Given the description of an element on the screen output the (x, y) to click on. 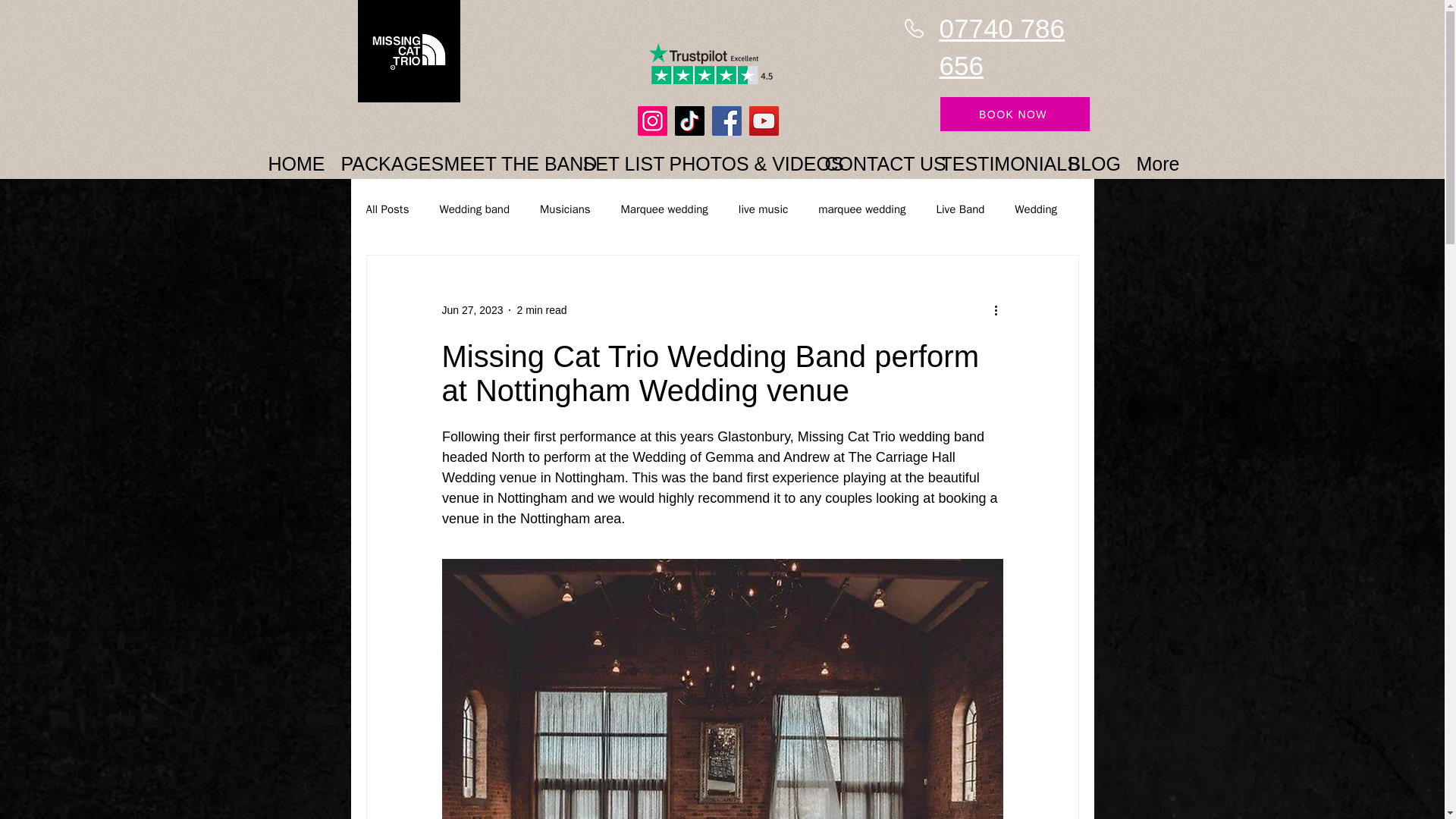
Marquee wedding (664, 208)
live music (762, 208)
Jun 27, 2023 (471, 309)
All Posts (387, 208)
Musicians (565, 208)
Wedding (1035, 208)
MEET THE BAND (499, 156)
SET LIST (612, 156)
CONTACT US (868, 156)
BOOK NOW (1014, 114)
BLOG (1088, 156)
Live Band (960, 208)
2 min read (541, 309)
Wedding band (474, 208)
HOME (290, 156)
